Given the description of an element on the screen output the (x, y) to click on. 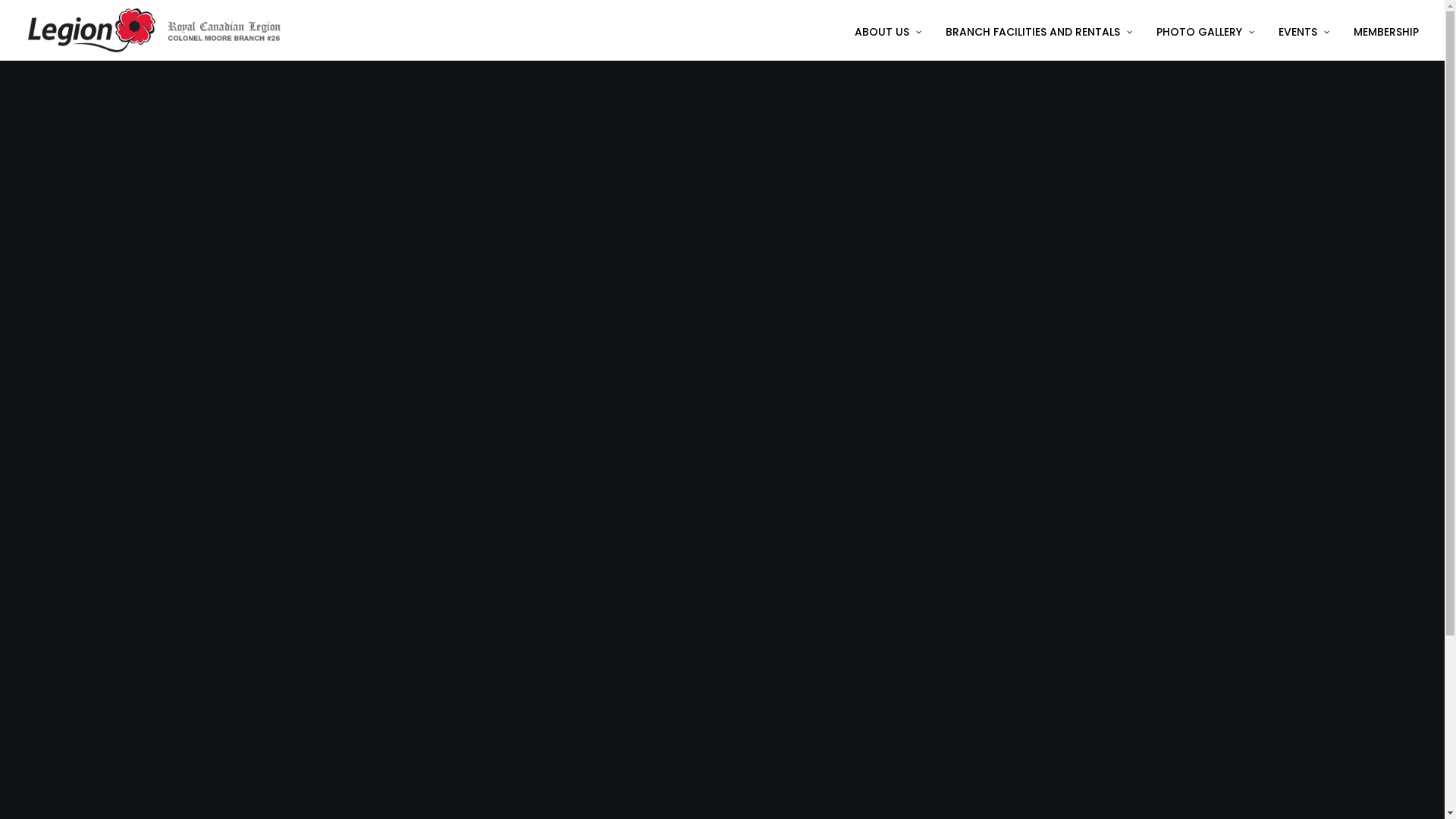
ABOUT US Element type: text (892, 30)
EVENTS Element type: text (1303, 30)
PHOTO GALLERY Element type: text (1204, 30)
BRANCH FACILITIES AND RENTALS Element type: text (1038, 30)
MEMBERSHIP Element type: text (1380, 30)
